Given the description of an element on the screen output the (x, y) to click on. 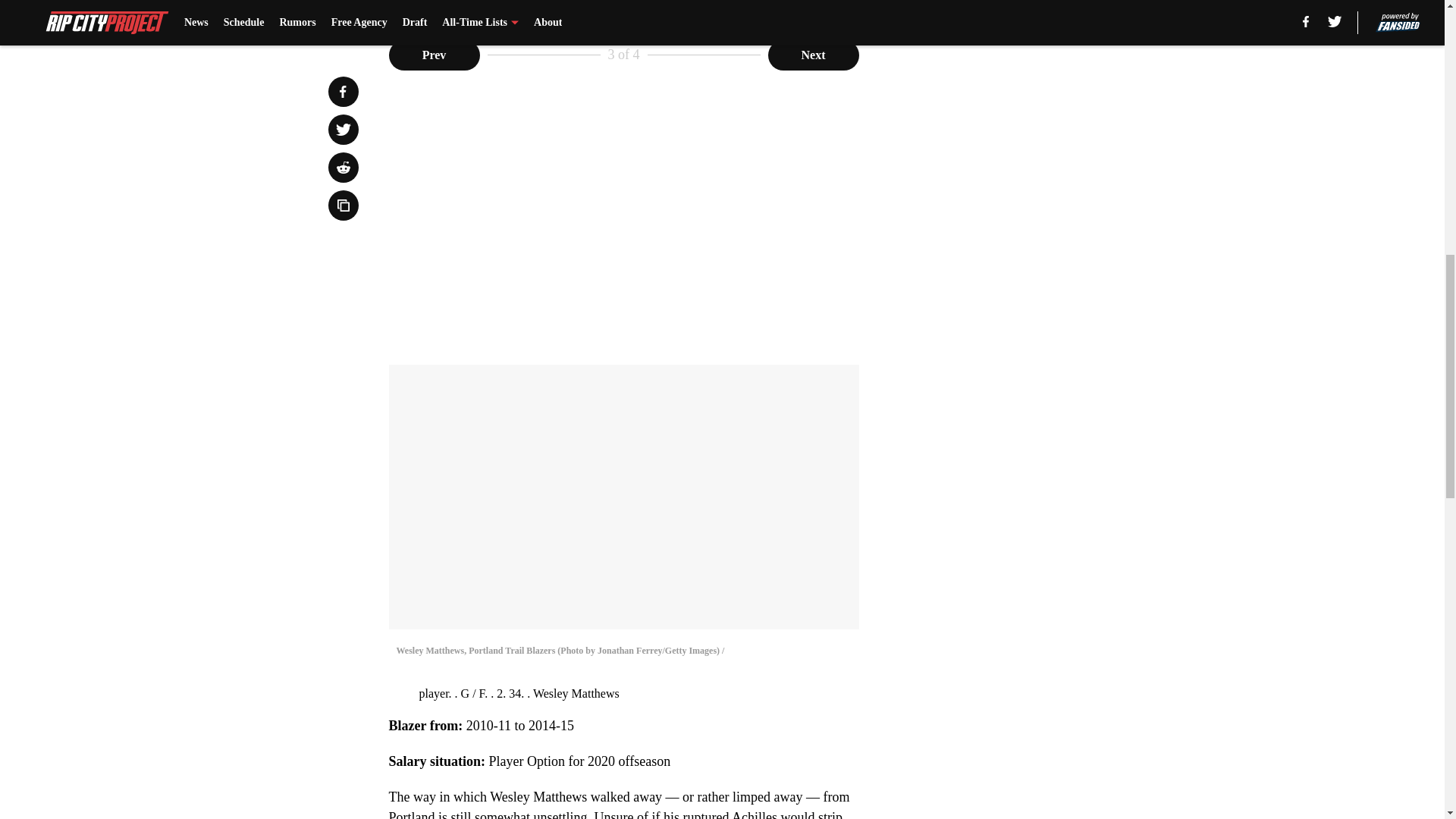
Prev (433, 54)
Next (813, 54)
